Given the description of an element on the screen output the (x, y) to click on. 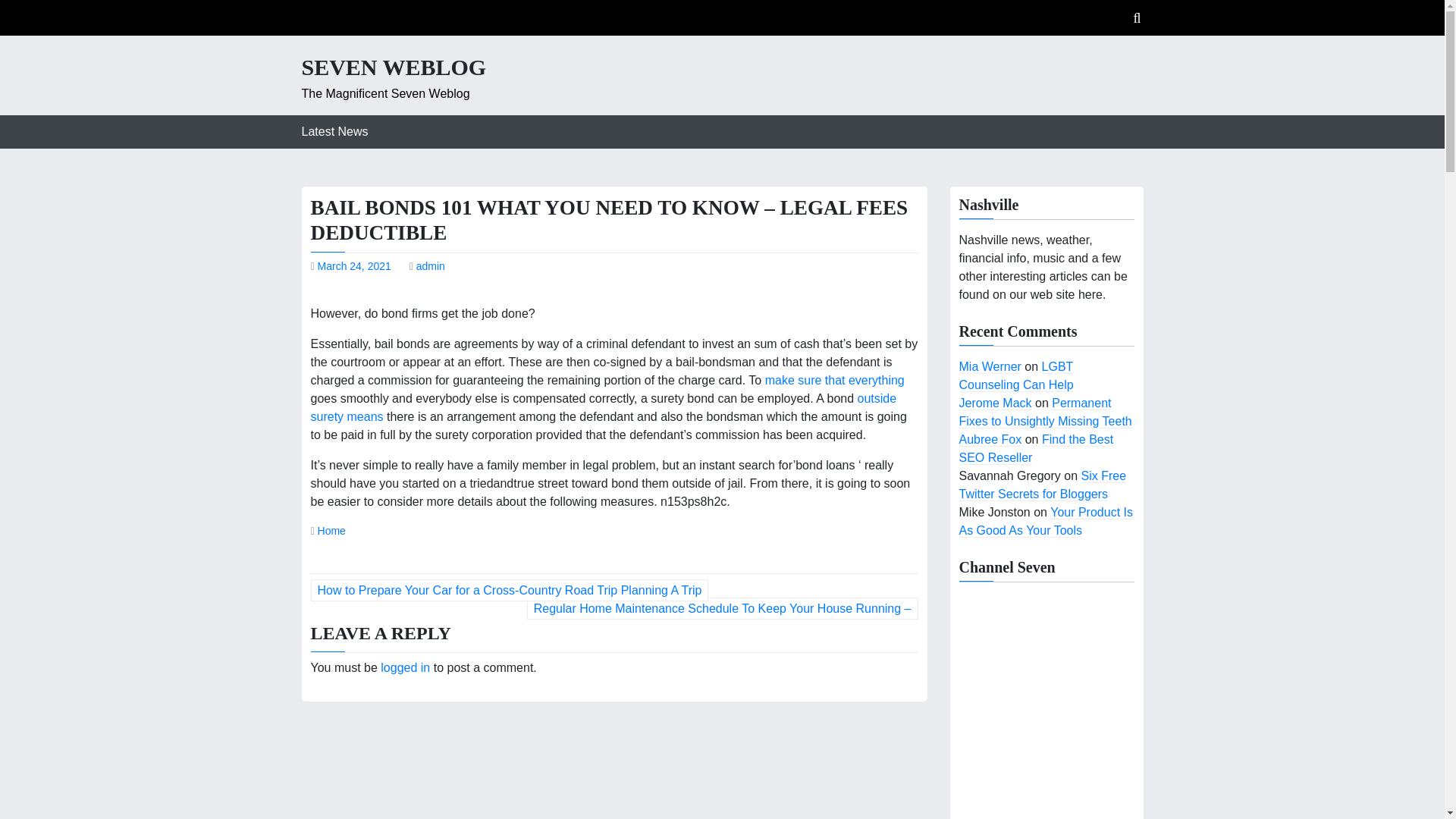
LGBT Counseling Can Help (1015, 376)
make sure that everything (834, 379)
March 24, 2021 (354, 265)
Find the Best SEO Reseller (1035, 449)
SEVEN WEBLOG (393, 67)
Search (1006, 82)
Six Free Twitter Secrets for Bloggers (1041, 485)
logged in (404, 667)
Aubree Fox (990, 439)
Home (331, 530)
Your Product Is As Good As Your Tools (1045, 521)
Jerome Mack (994, 403)
admin (430, 265)
outside surety means (603, 407)
